Given the description of an element on the screen output the (x, y) to click on. 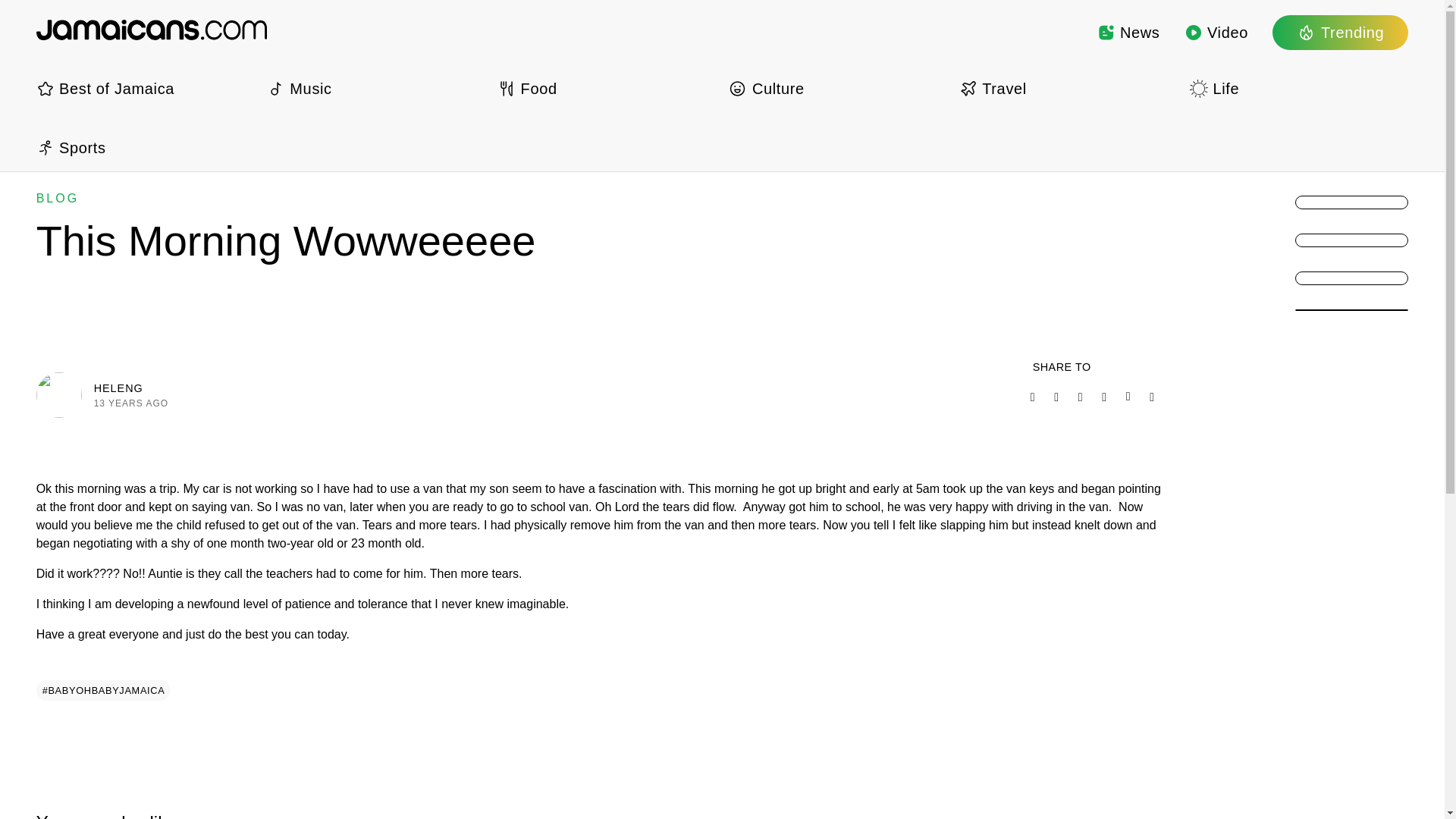
News (1128, 32)
Trending (1339, 32)
Video (1216, 32)
Best of Jamaica (145, 88)
Sports (145, 147)
Culture (837, 88)
Life (1298, 88)
Travel (1068, 88)
BLOG (57, 197)
Music (375, 88)
Food (606, 88)
